Given the description of an element on the screen output the (x, y) to click on. 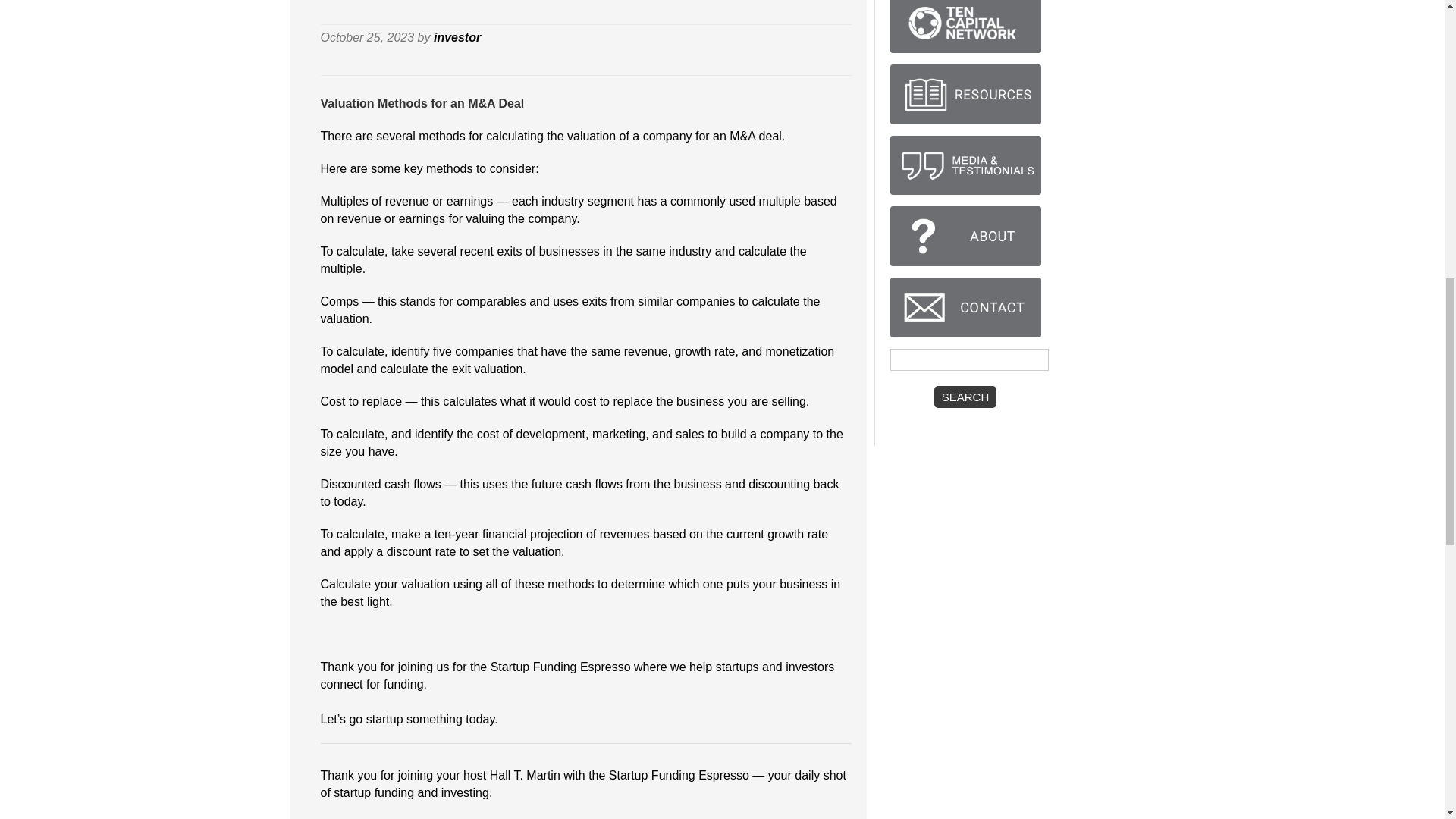
investor (456, 37)
Search (965, 396)
Twitter Tweet Button (827, 38)
